Given the description of an element on the screen output the (x, y) to click on. 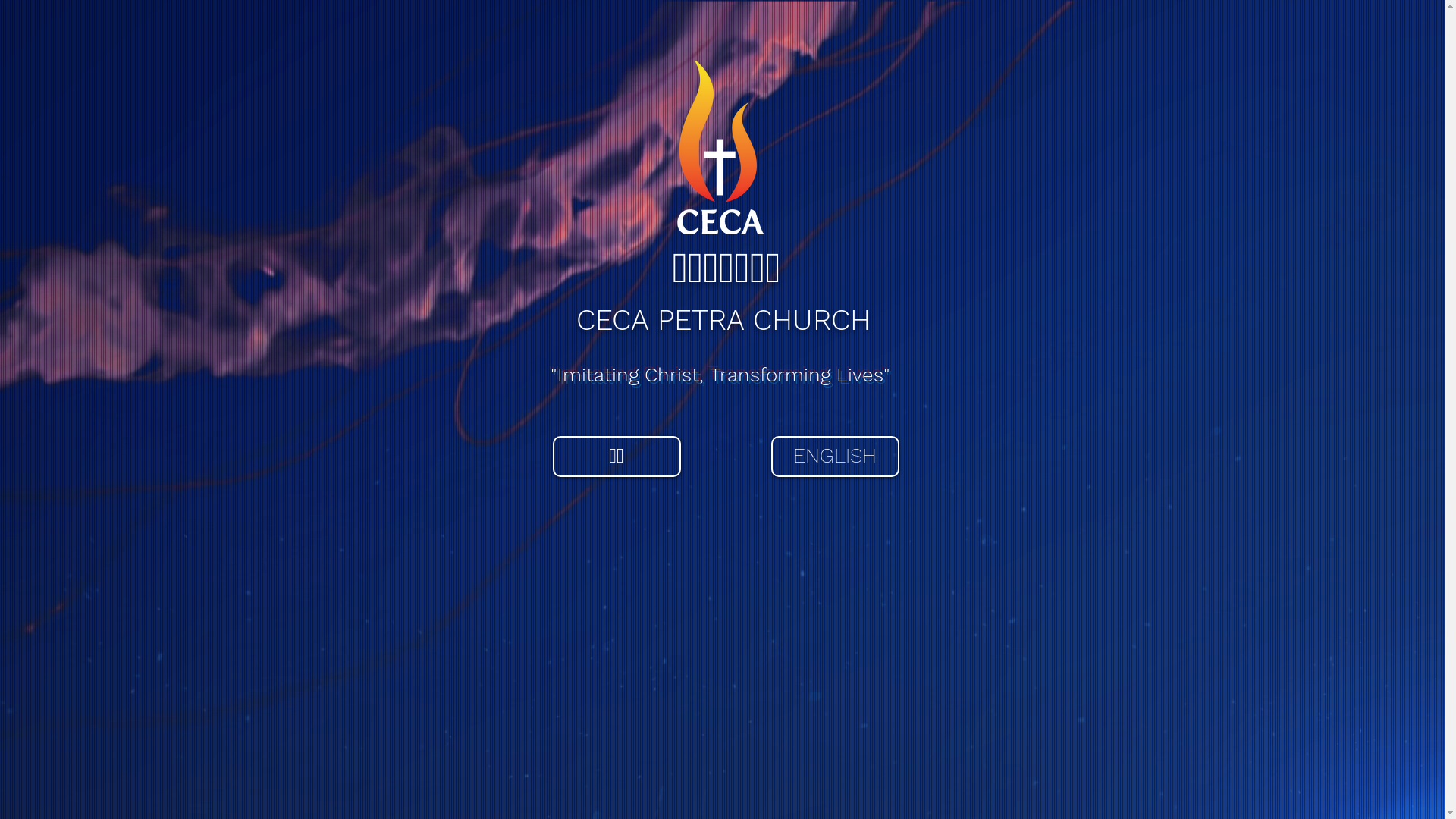
ENGLISH Element type: text (834, 456)
index_edited.png Element type: hover (720, 147)
